Given the description of an element on the screen output the (x, y) to click on. 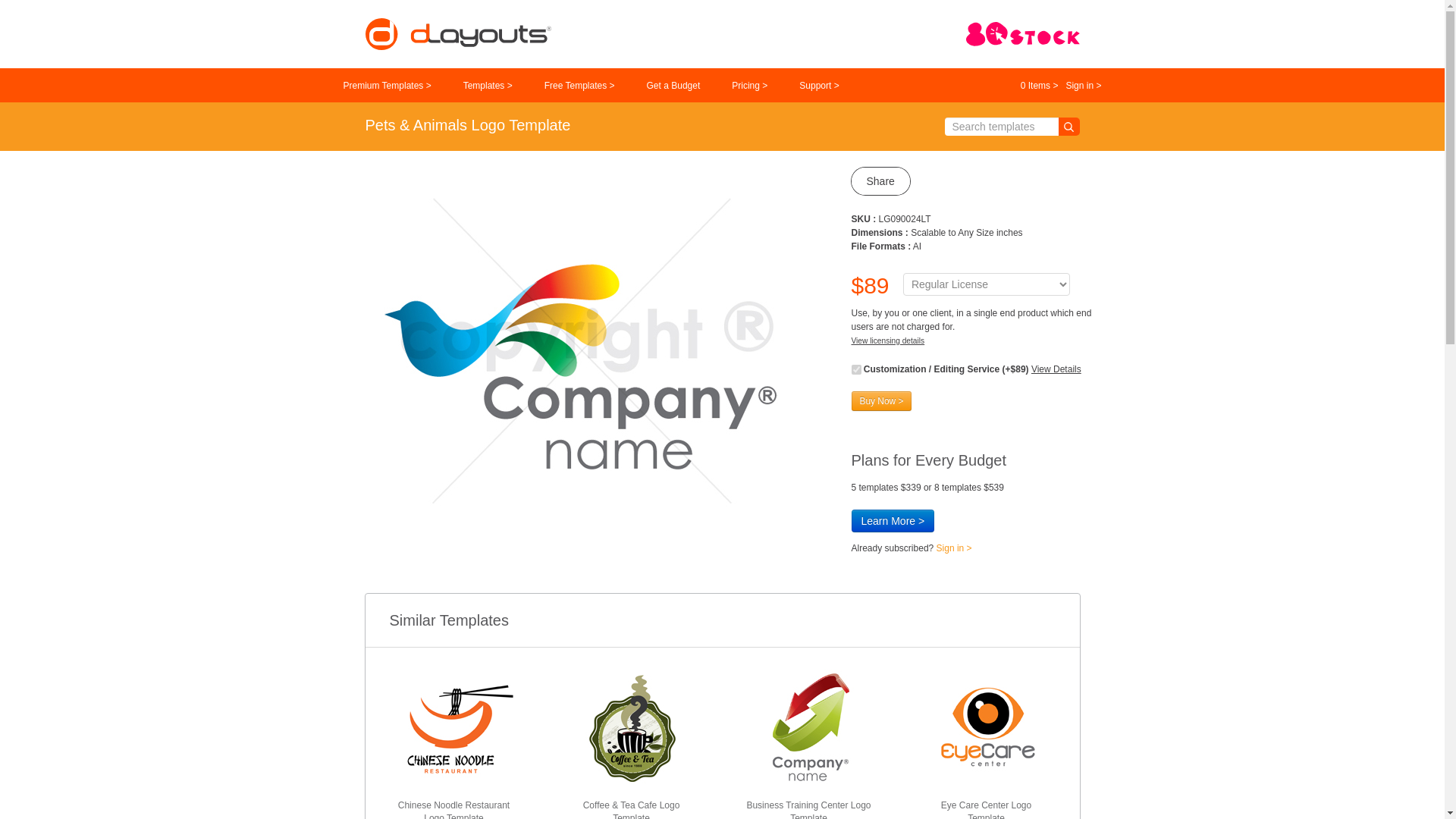
Get a Budget (673, 85)
customization (855, 369)
